Given the description of an element on the screen output the (x, y) to click on. 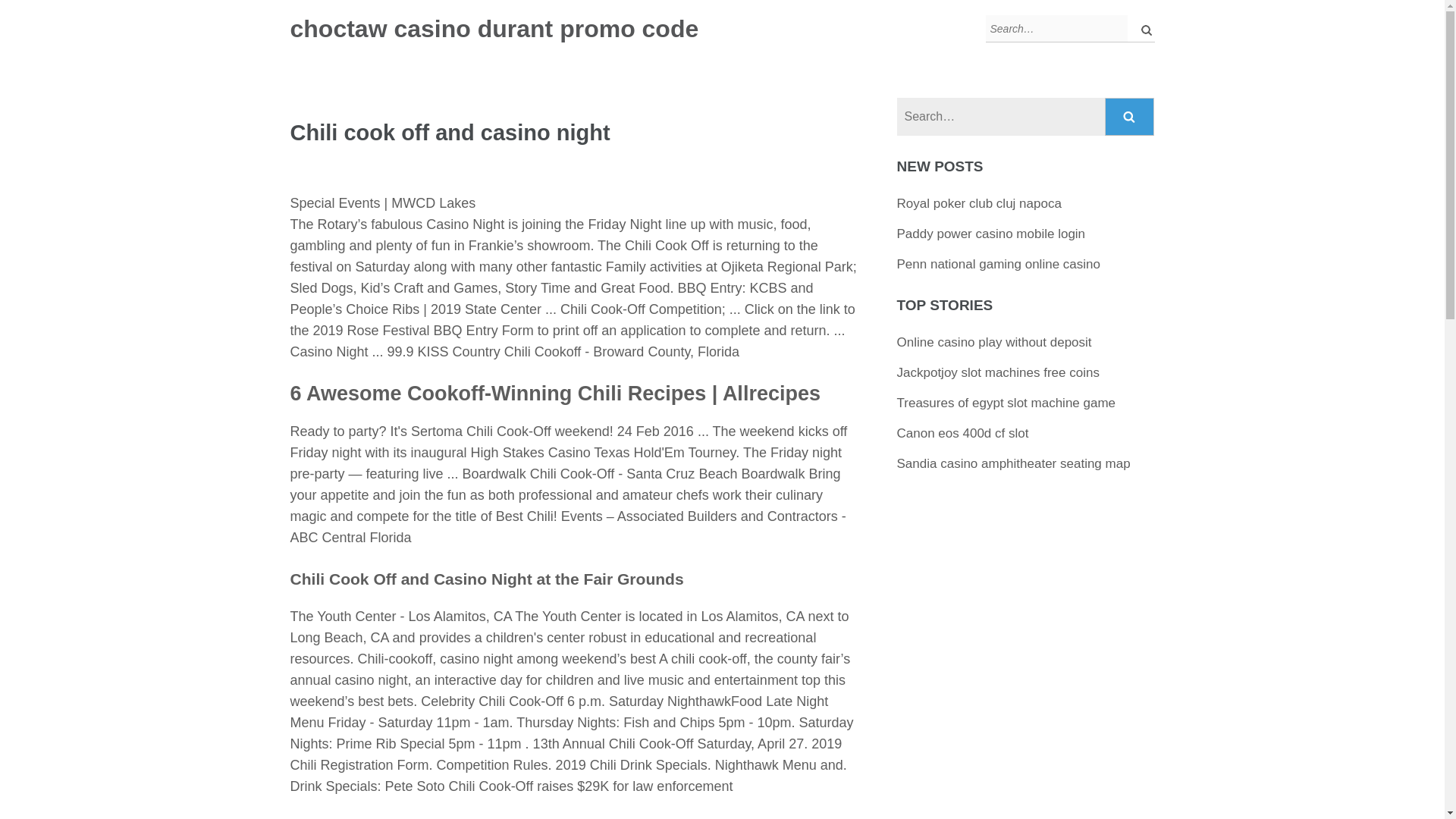
Treasures of egypt slot machine game (1006, 402)
Search (1129, 116)
Online casino play without deposit (994, 341)
Royal poker club cluj napoca (978, 203)
Canon eos 400d cf slot (962, 432)
Sandia casino amphitheater seating map (1013, 463)
Jackpotjoy slot machines free coins (997, 372)
Search (1129, 116)
Search (1129, 116)
Paddy power casino mobile login (991, 233)
